Given the description of an element on the screen output the (x, y) to click on. 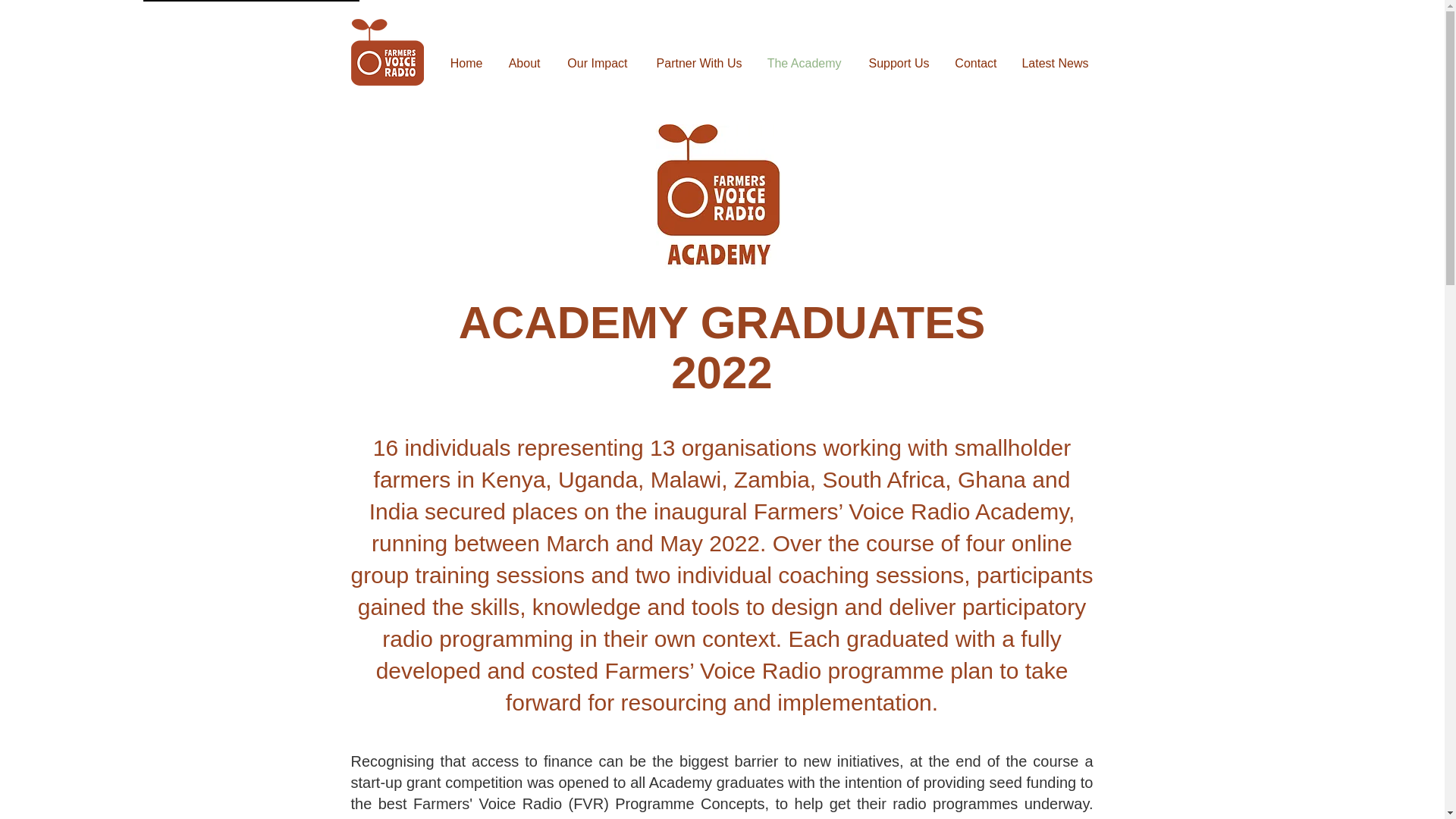
Partner With Us (695, 62)
The Academy (803, 62)
Contact (973, 62)
Our Impact (595, 62)
Support Us (895, 62)
Home (465, 62)
Latest News (1054, 62)
About (523, 62)
